Given the description of an element on the screen output the (x, y) to click on. 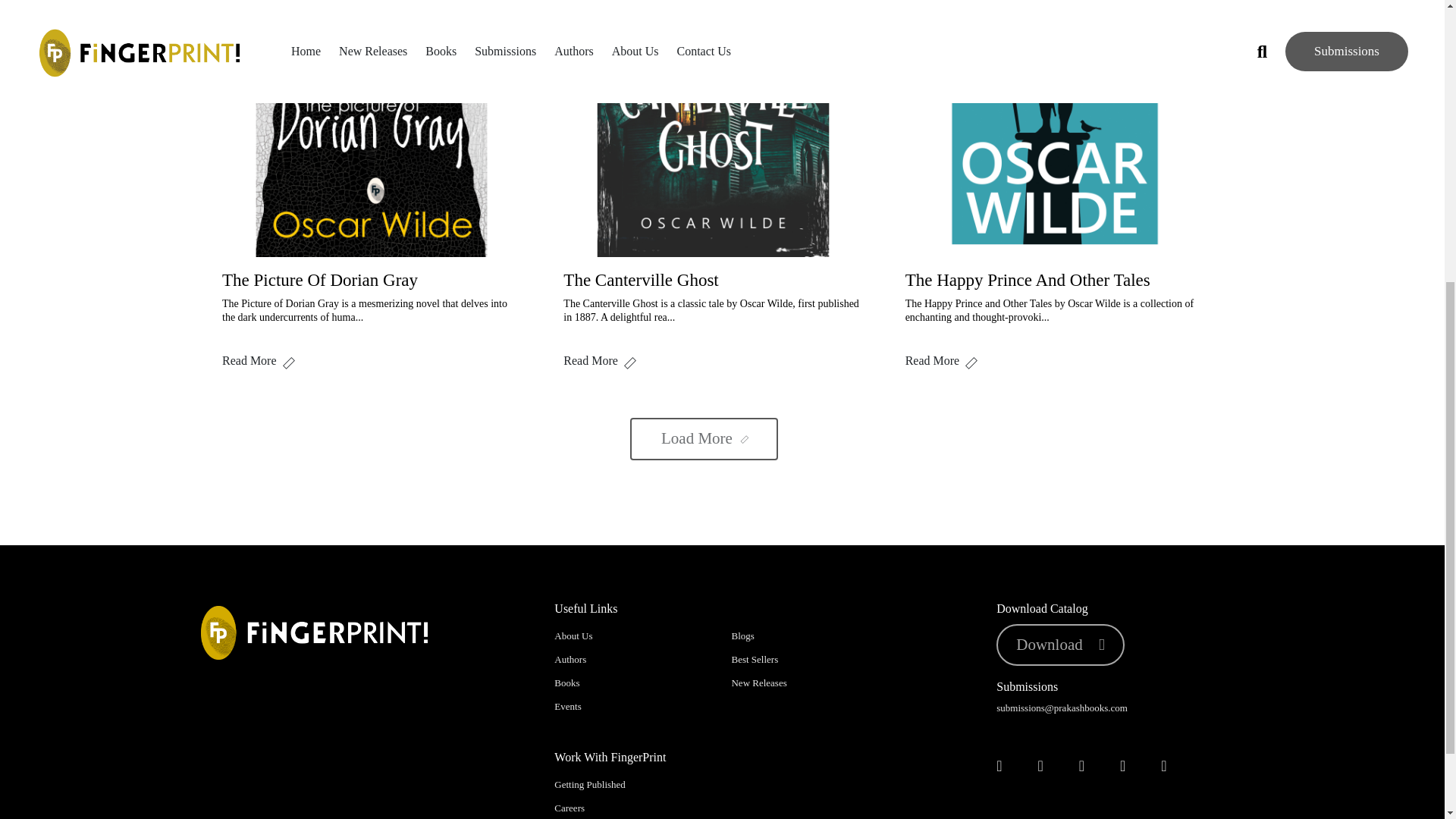
Authors (570, 659)
Download (1059, 645)
New Releases (758, 682)
Read More (371, 360)
Read More (712, 360)
About Us (573, 635)
Books (566, 682)
Careers (569, 808)
Events (567, 706)
Read More (1054, 360)
Getting Published (590, 784)
Blogs (742, 635)
Load More (703, 438)
Best Sellers (753, 659)
